Given the description of an element on the screen output the (x, y) to click on. 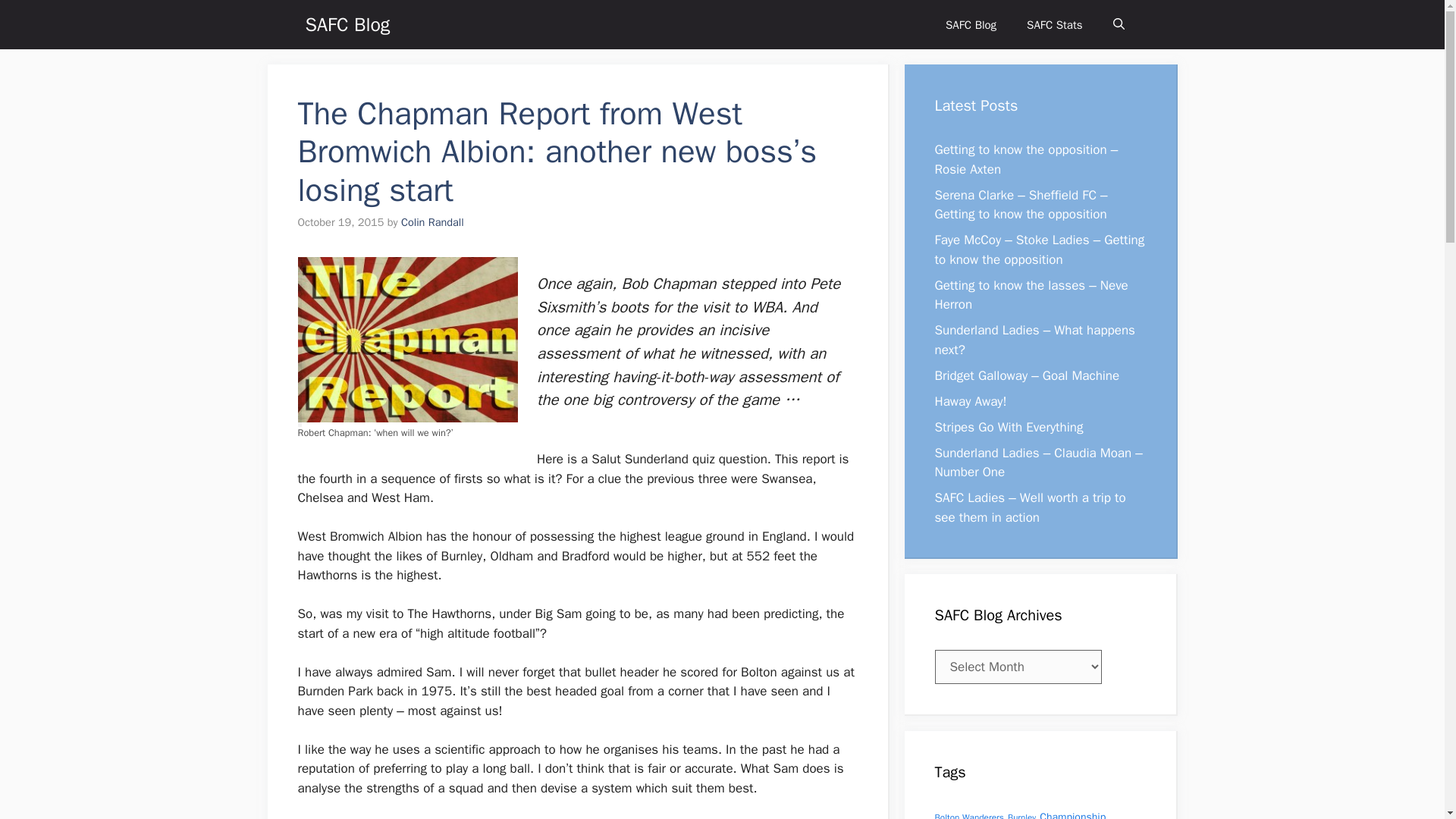
Stripes Go With Everything (1008, 426)
Championship (1072, 814)
Haway Away! (970, 400)
SAFC Stats (1054, 23)
View all posts by Colin Randall (432, 222)
SAFC Blog (347, 24)
Colin Randall (432, 222)
SAFC Blog (970, 23)
Bolton Wanderers (968, 815)
Burnley (1021, 815)
